Given the description of an element on the screen output the (x, y) to click on. 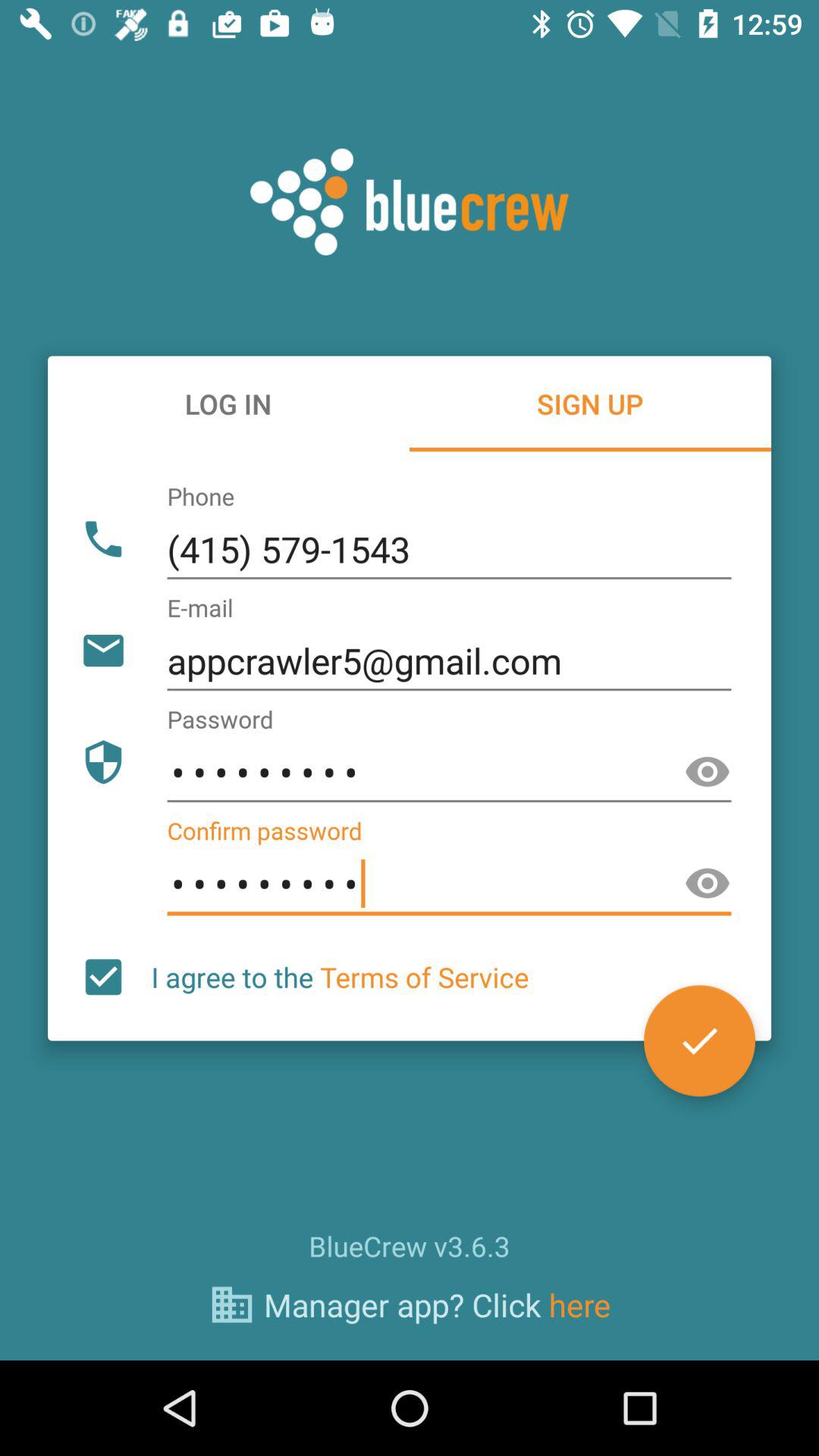
click the item below log in item (449, 549)
